Given the description of an element on the screen output the (x, y) to click on. 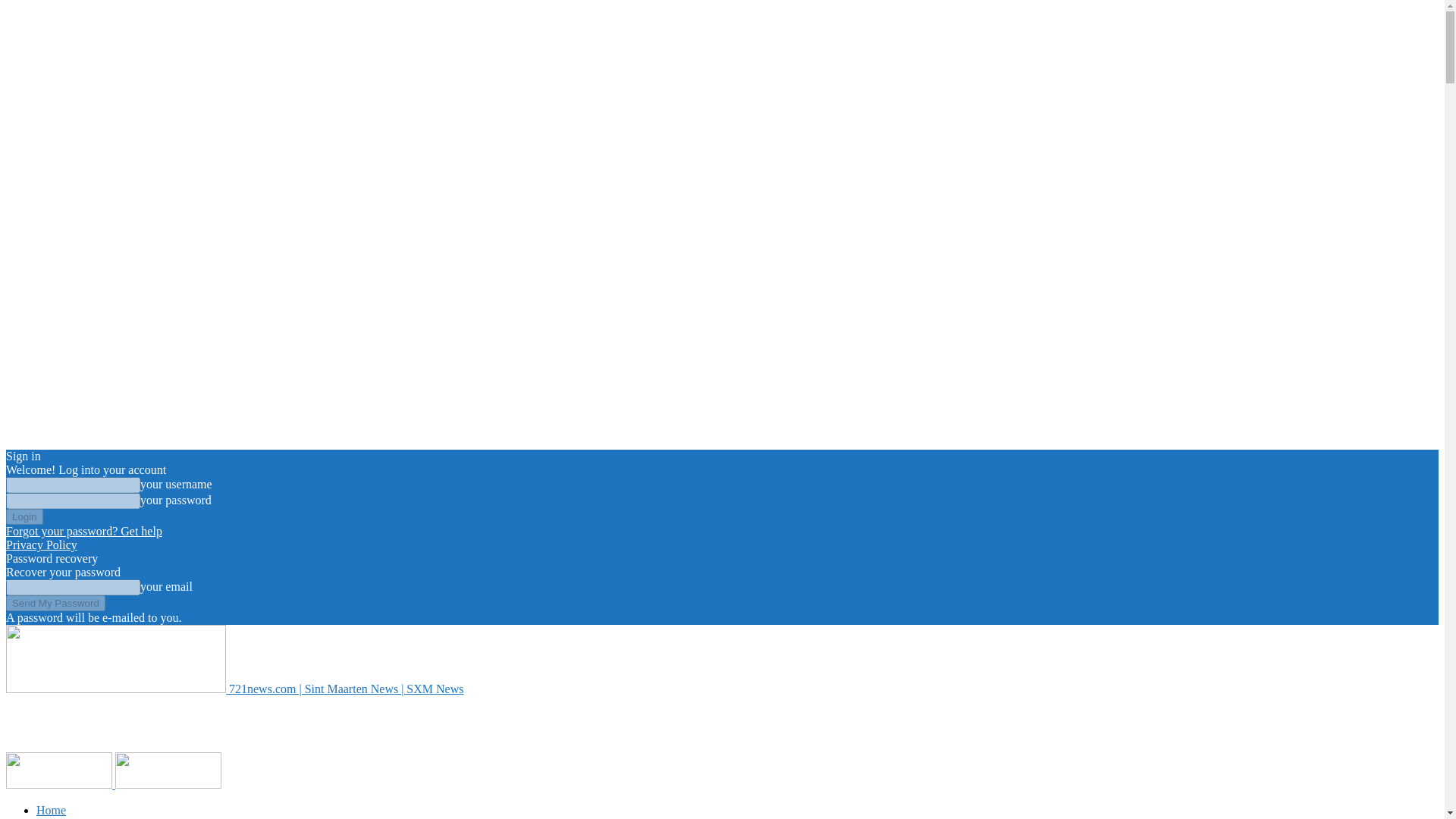
Send My Password (54, 602)
Forgot your password? Get help (83, 530)
Privacy Policy (41, 544)
Login (24, 516)
